Given the description of an element on the screen output the (x, y) to click on. 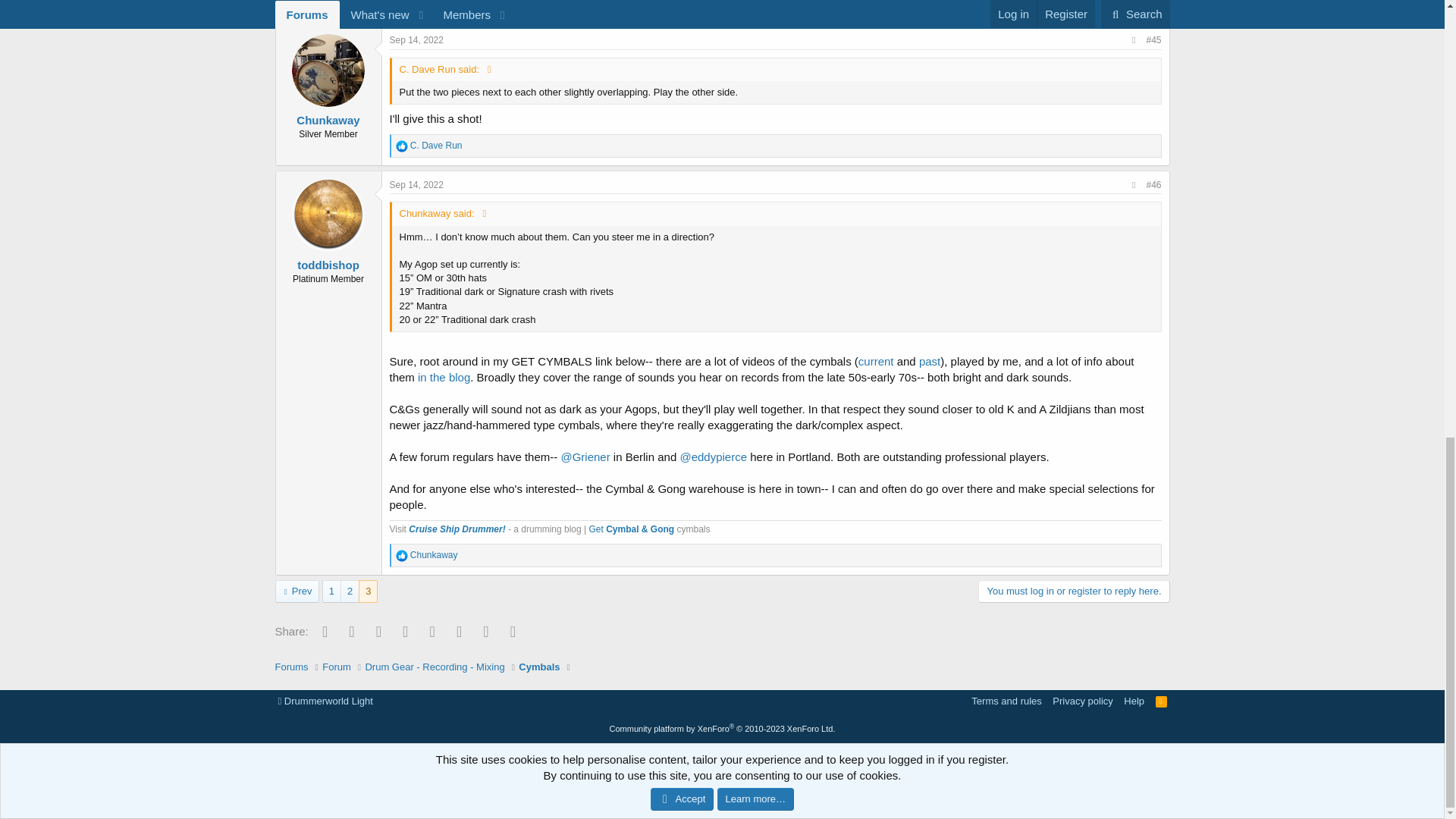
Sep 14, 2022 at 7:34 PM (417, 184)
Like (401, 146)
Sep 14, 2022 at 7:28 PM (417, 40)
Like (401, 555)
